Given the description of an element on the screen output the (x, y) to click on. 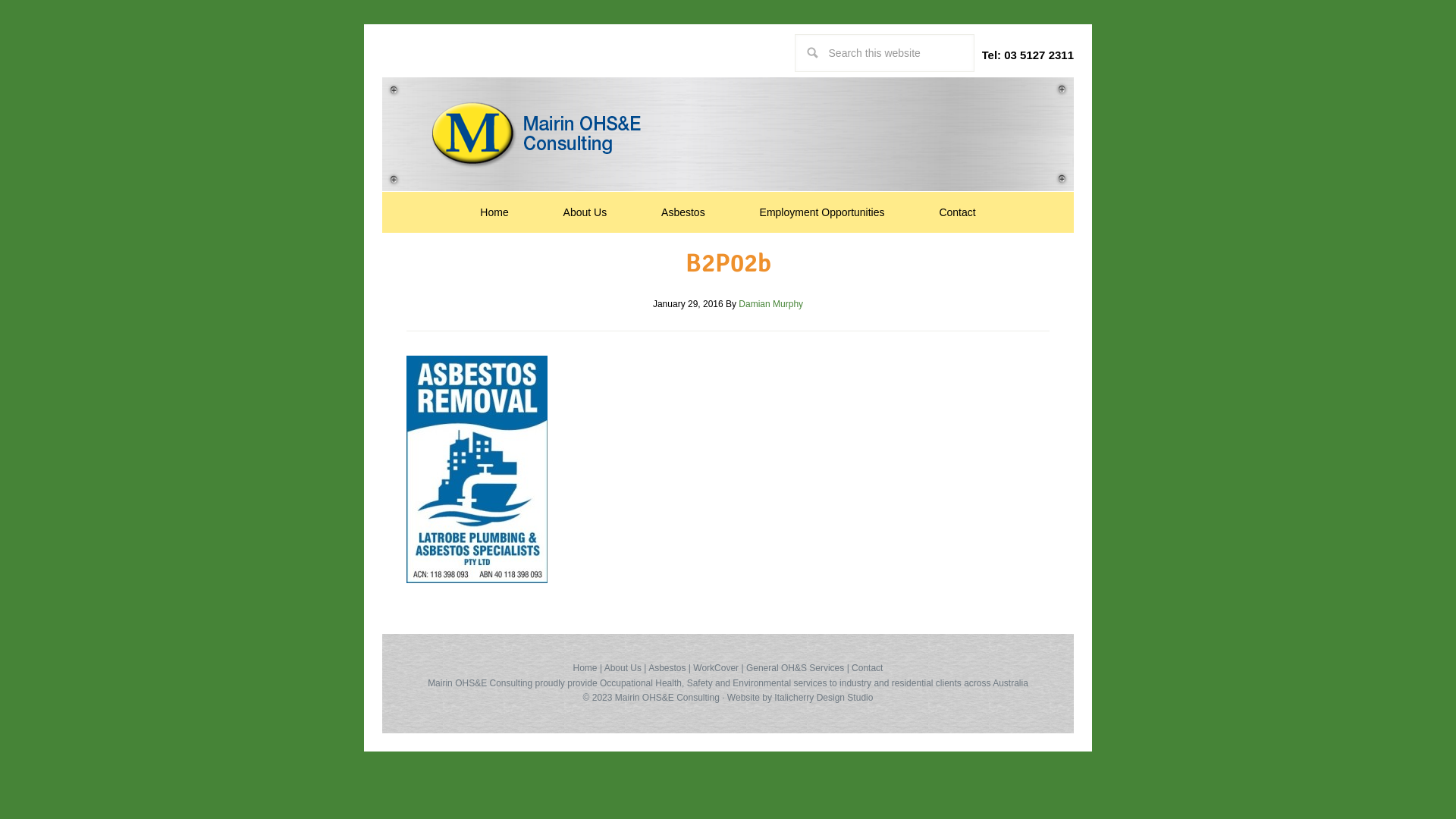
General OH&S Services Element type: text (795, 667)
About Us Element type: text (585, 211)
Home Element type: text (493, 211)
Damian Murphy Element type: text (770, 303)
Employment Opportunities Element type: text (822, 211)
Contact Element type: text (866, 667)
Search Element type: text (973, 33)
Italicherry Element type: text (793, 697)
WorkCover Element type: text (715, 667)
Asbestos Element type: text (666, 667)
About Us Element type: text (622, 667)
Contact Element type: text (957, 211)
Home Element type: text (585, 667)
Asbestos Element type: text (683, 211)
